Given the description of an element on the screen output the (x, y) to click on. 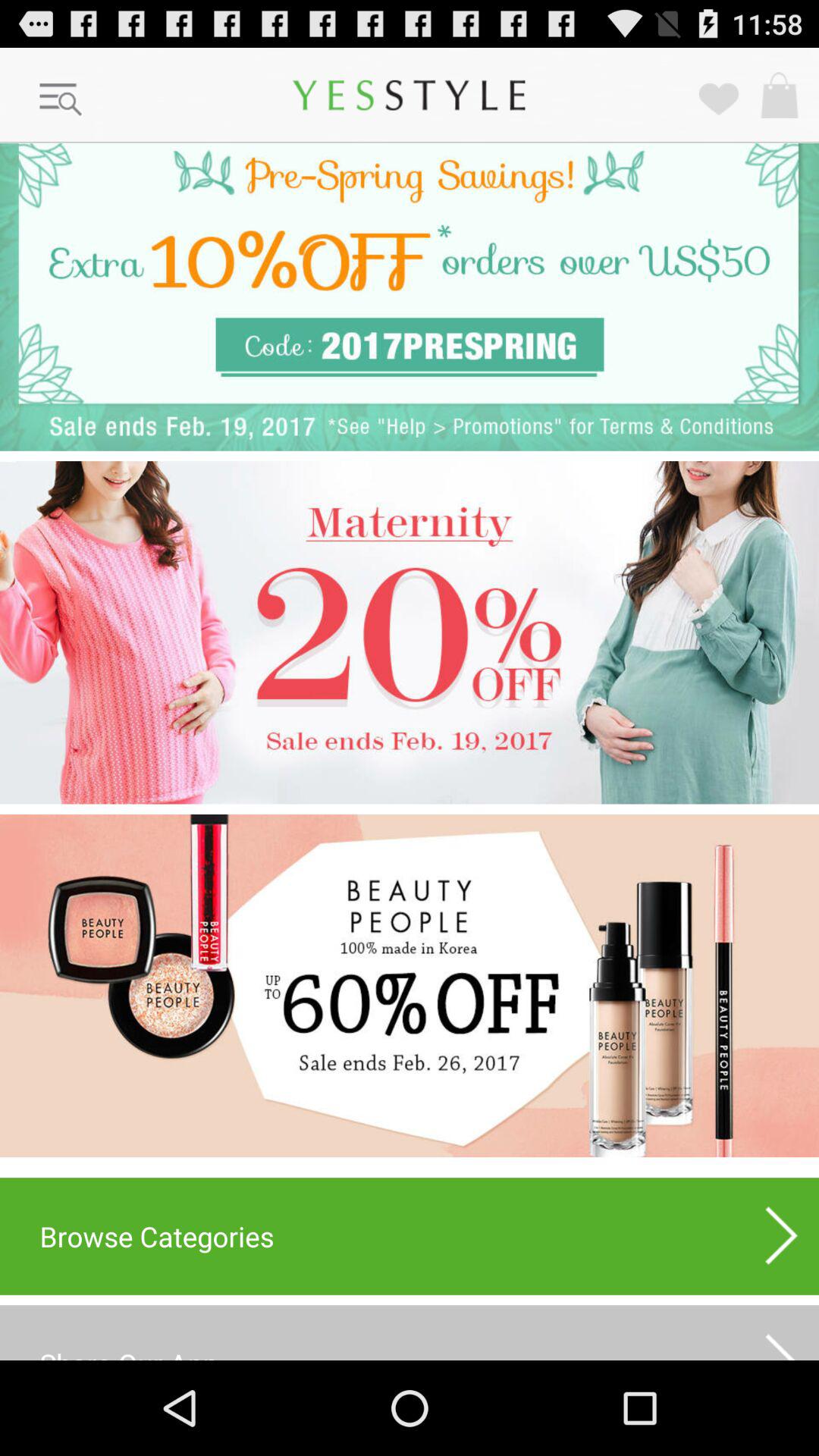
flip to share our app (409, 1332)
